Given the description of an element on the screen output the (x, y) to click on. 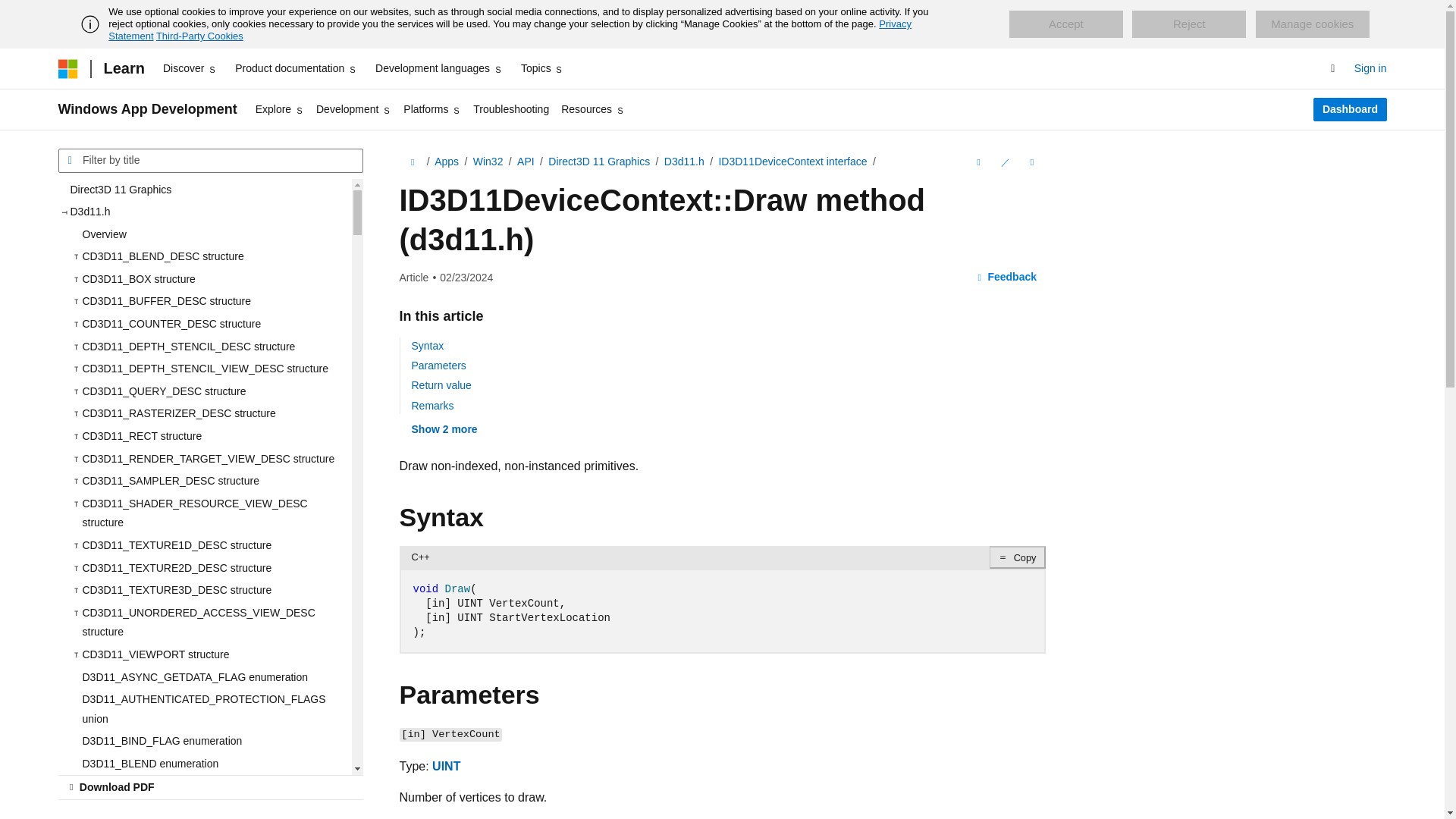
Skip to main content (11, 11)
Manage cookies (1312, 23)
Platforms (432, 109)
Sign in (1370, 68)
Development languages (438, 68)
Reject (1189, 23)
Topics (542, 68)
Third-Party Cookies (199, 35)
Accept (1065, 23)
Windows App Development (146, 109)
Learn (123, 68)
More actions (1031, 161)
Explore (279, 109)
Privacy Statement (509, 29)
Product documentation (295, 68)
